Given the description of an element on the screen output the (x, y) to click on. 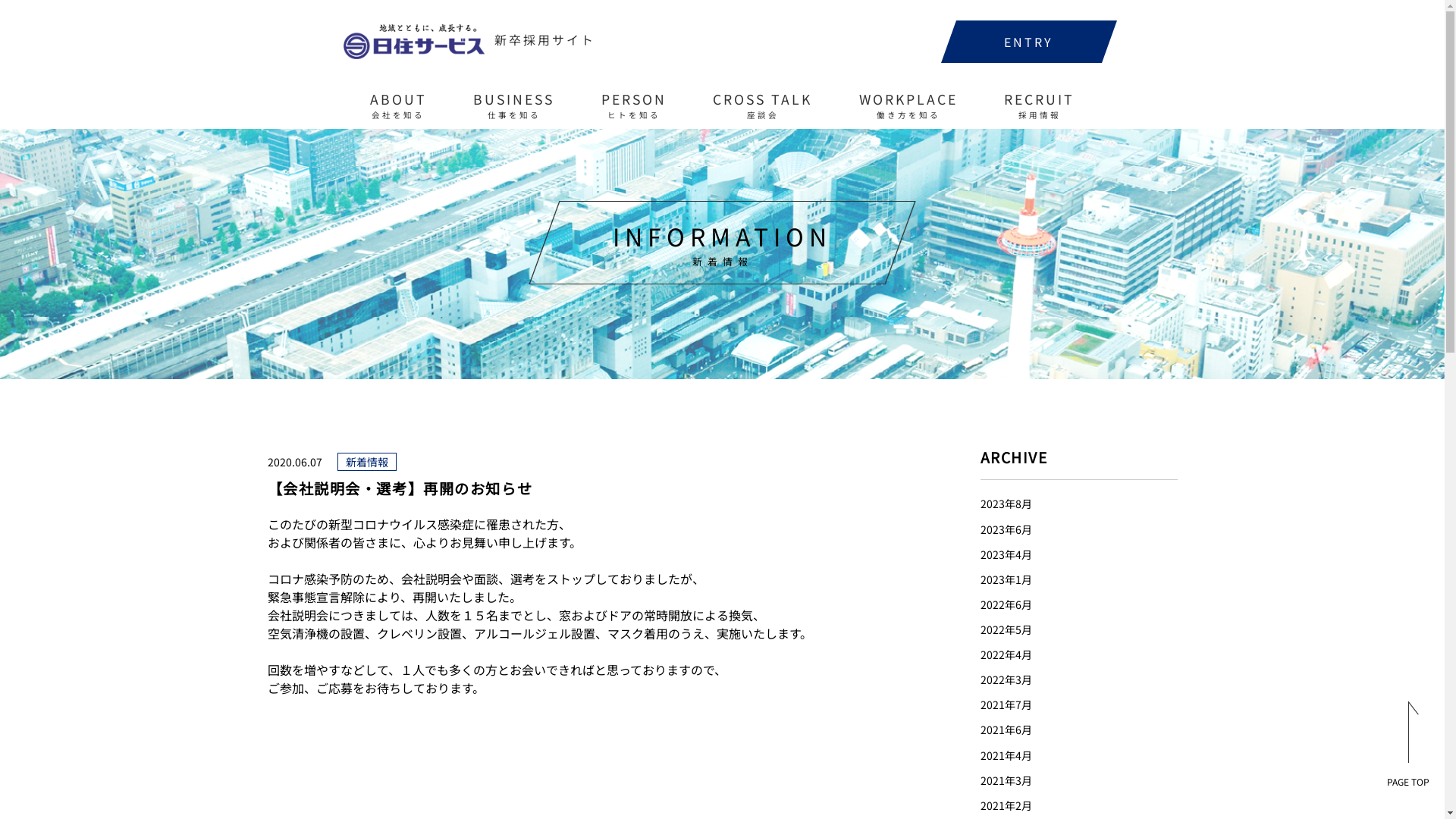
ENTRY Element type: text (1028, 41)
PAGE TOP Element type: text (1407, 743)
